Given the description of an element on the screen output the (x, y) to click on. 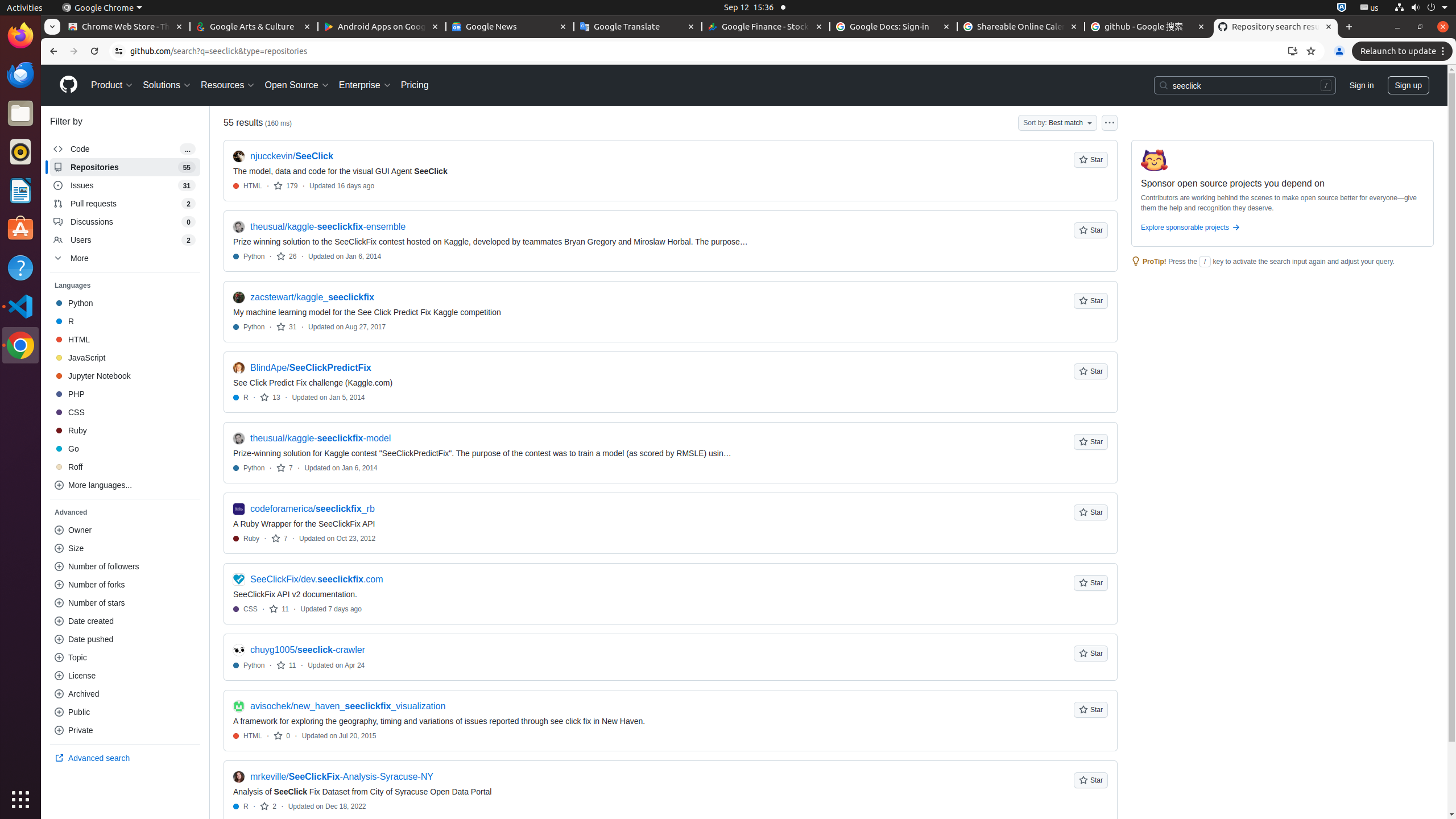
Google Arts & Culture - Memory usage - 60.0 MB Element type: page-tab (253, 26)
‎CSS‎ Element type: link (125, 412)
Rhythmbox Element type: push-button (20, 151)
‎PHP‎ Element type: link (125, 394)
‎Python‎ Element type: link (125, 303)
